Given the description of an element on the screen output the (x, y) to click on. 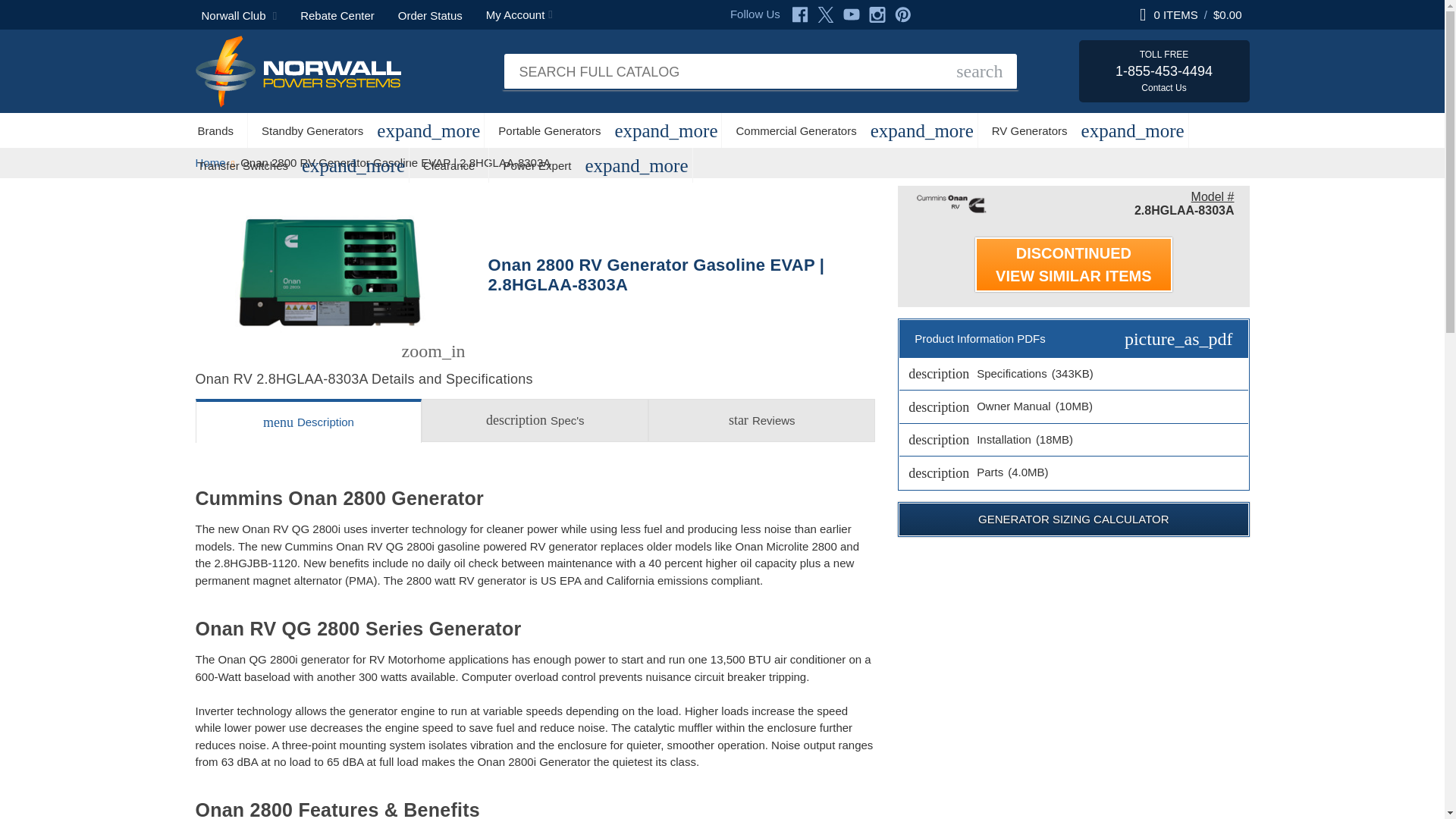
Cummins-Onan RV QG 2800i Generator for RVs 2.8HGLAA-8303A (330, 271)
Norwall PowerSystems (298, 71)
Instagram (877, 14)
My Account (519, 14)
Standby Generators (312, 130)
Youtube (851, 14)
Facebook (799, 14)
Rebate Center (337, 14)
Norwall Club (239, 14)
Order Status (429, 14)
Brands (215, 130)
Call Norwall PowerSystems Toll Free at 1-855-453-4494 (1163, 71)
Norwall Club (239, 14)
Pinterest (902, 14)
X (825, 14)
